Given the description of an element on the screen output the (x, y) to click on. 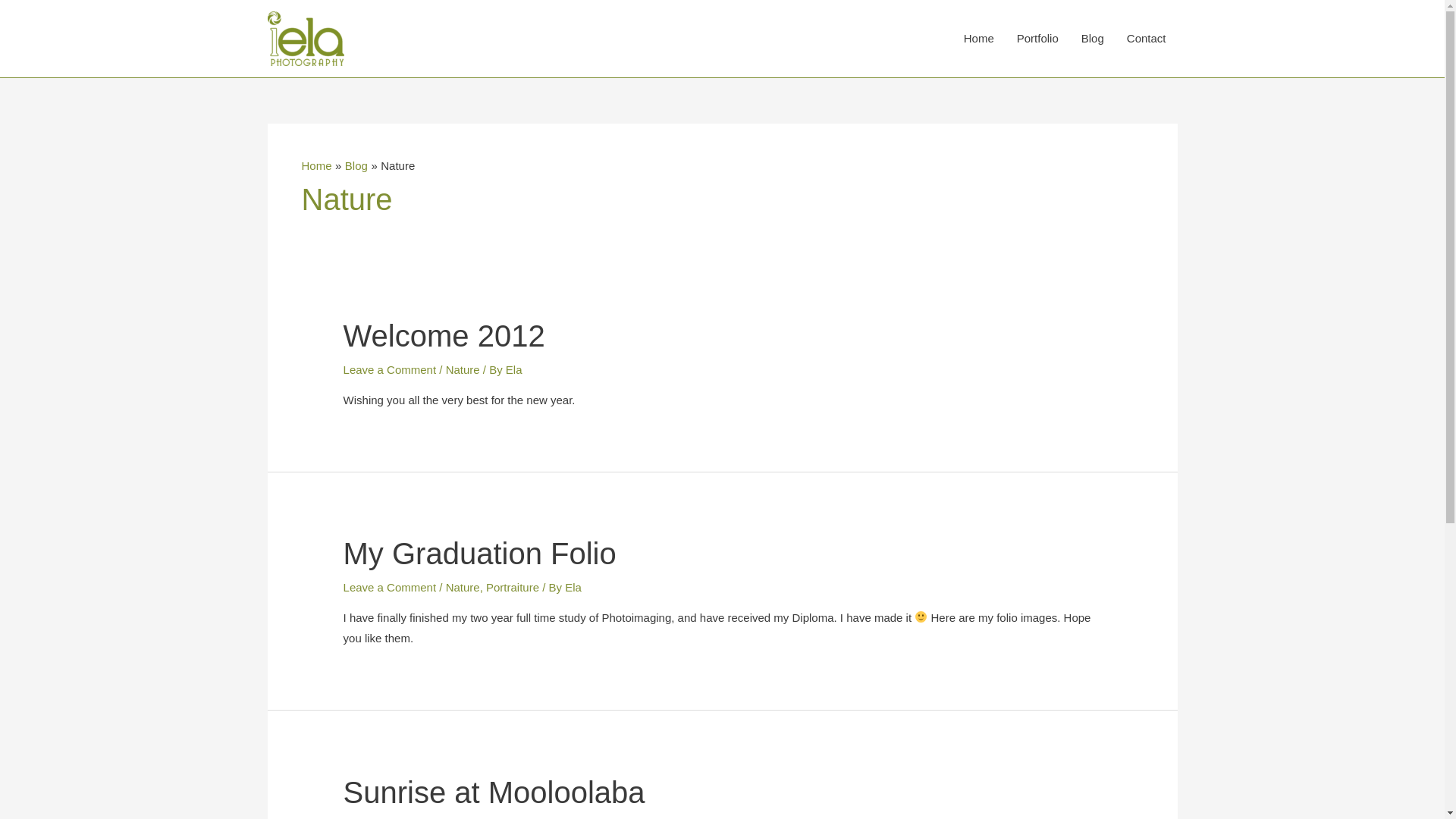
Home Element type: text (978, 38)
Portraiture Element type: text (512, 586)
Ela Element type: text (572, 586)
My Graduation Folio Element type: text (479, 553)
Home Element type: text (316, 165)
Welcome 2012 Element type: text (444, 335)
Nature Element type: text (462, 369)
Leave a Comment Element type: text (389, 586)
Portfolio Element type: text (1037, 38)
Ela Element type: text (513, 369)
Leave a Comment Element type: text (389, 369)
Sunrise at Mooloolaba Element type: text (494, 791)
Blog Element type: text (1092, 38)
Nature Element type: text (462, 586)
Contact Element type: text (1146, 38)
Blog Element type: text (356, 165)
